Given the description of an element on the screen output the (x, y) to click on. 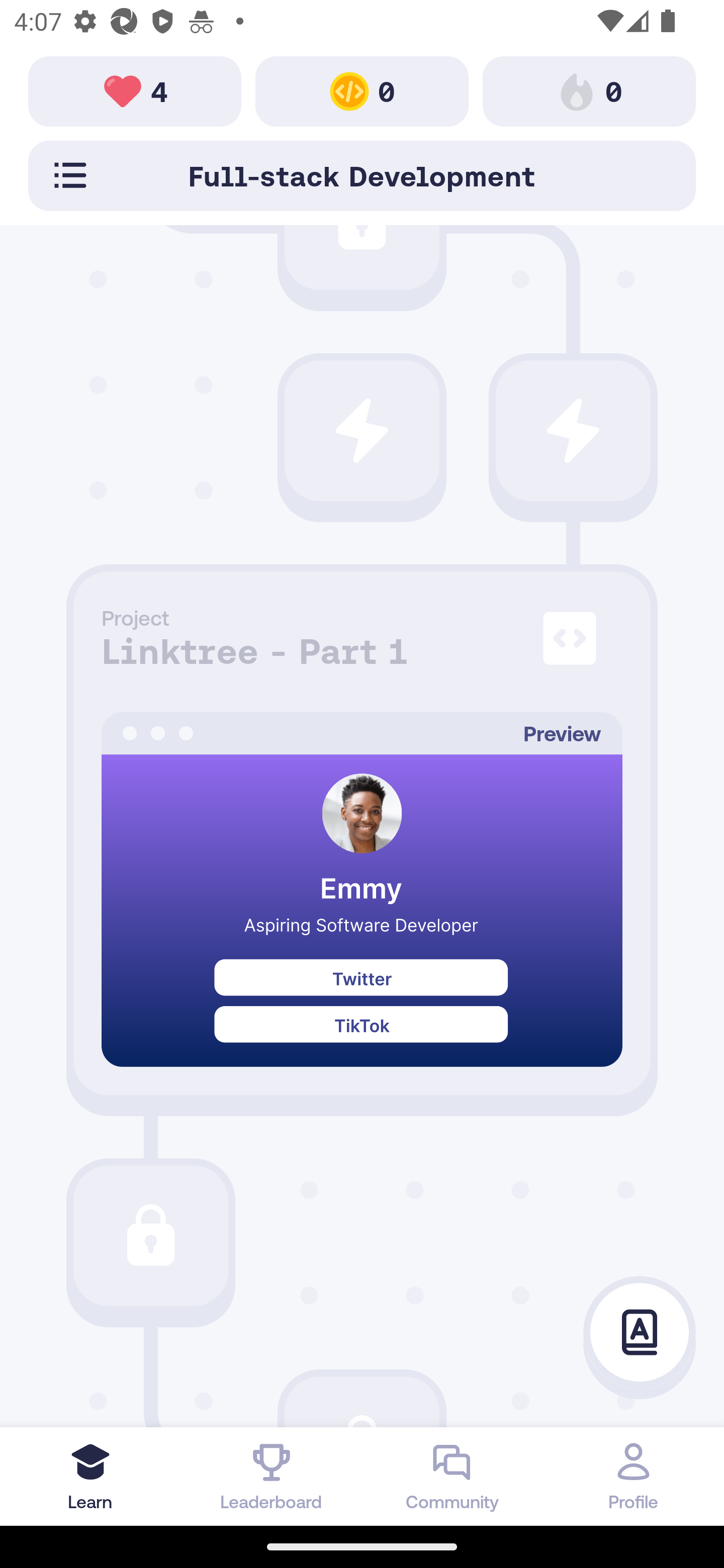
Path Toolbar Image 4 (134, 90)
Path Toolbar Image 0 (361, 90)
Path Toolbar Image 0 (588, 90)
Path Toolbar Selector Full-stack Development (361, 175)
Glossary Icon (639, 1332)
Leaderboard (271, 1475)
Community (452, 1475)
Profile (633, 1475)
